Given the description of an element on the screen output the (x, y) to click on. 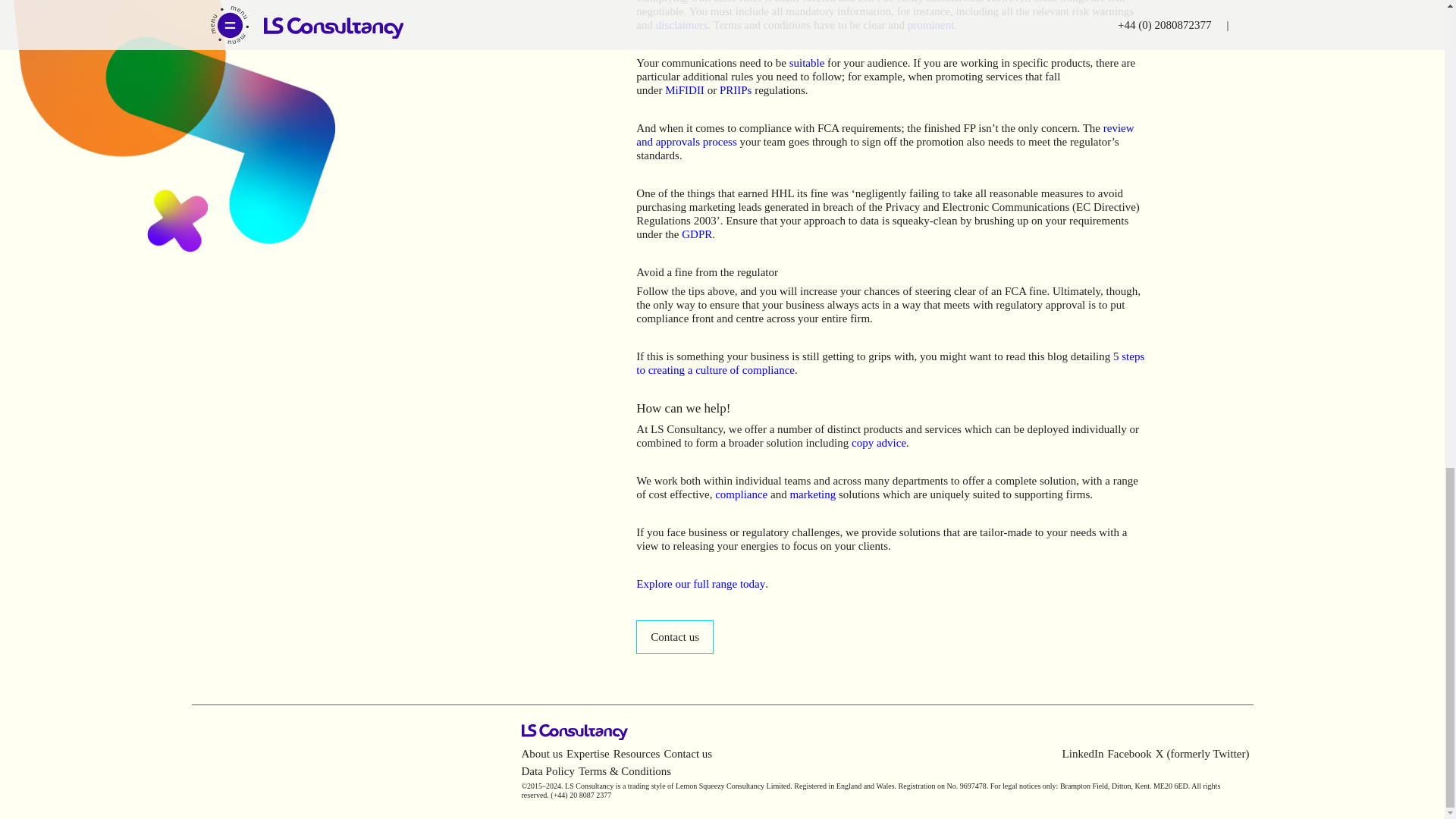
PRIIPs (735, 90)
disclaimers (681, 24)
suitable (807, 62)
review and approvals process (885, 135)
MiFIDII (684, 90)
prominent (931, 24)
